Given the description of an element on the screen output the (x, y) to click on. 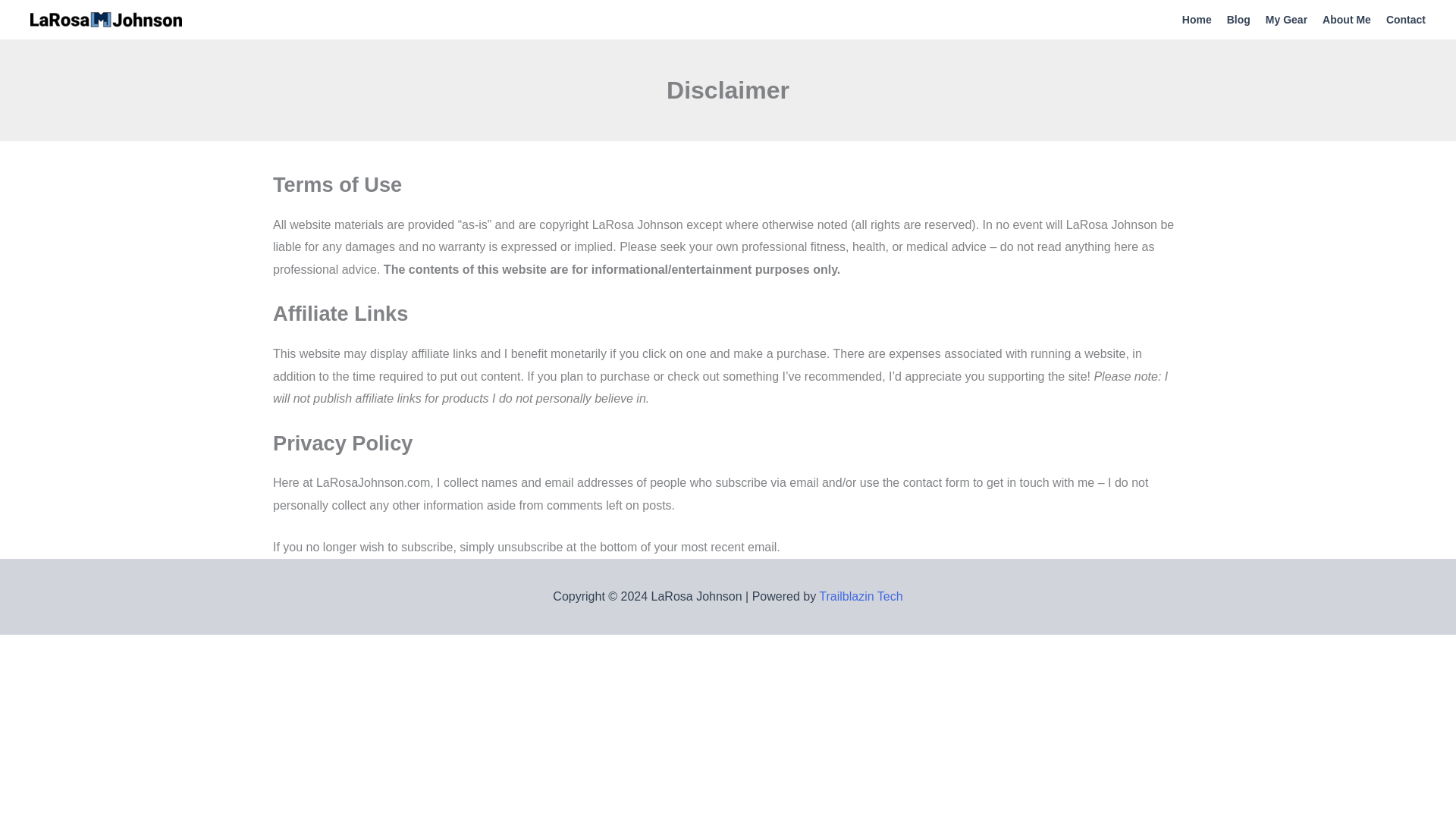
My Gear (1278, 19)
Home (1189, 19)
About Me (1339, 19)
Blog (1230, 19)
Trailblazin Tech (860, 595)
Contact (1398, 19)
